Given the description of an element on the screen output the (x, y) to click on. 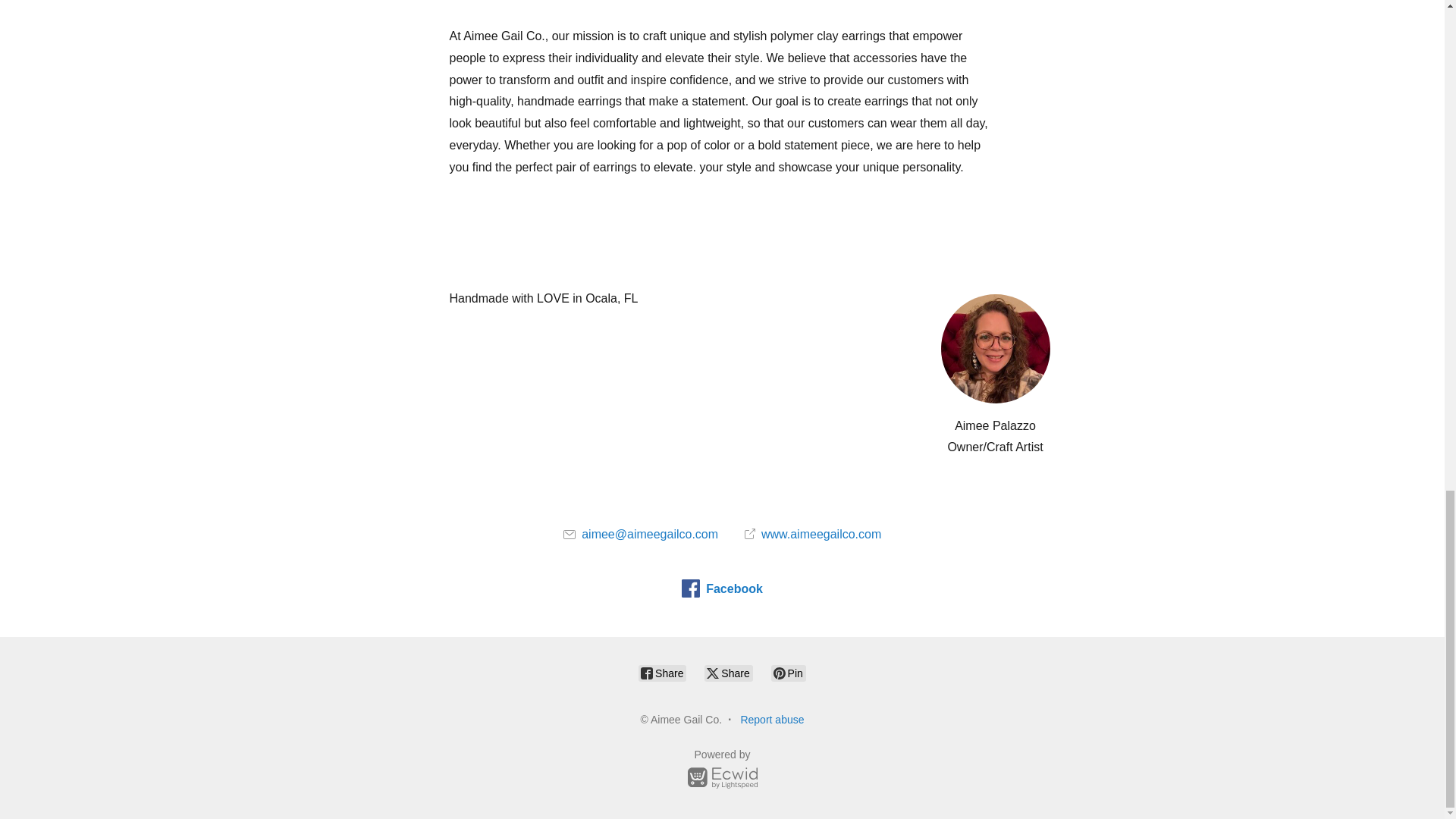
Report abuse (771, 719)
Share (662, 673)
Powered by (722, 771)
www.aimeegailco.com (813, 533)
Pin (788, 673)
Facebook (721, 588)
Share (728, 673)
